Given the description of an element on the screen output the (x, y) to click on. 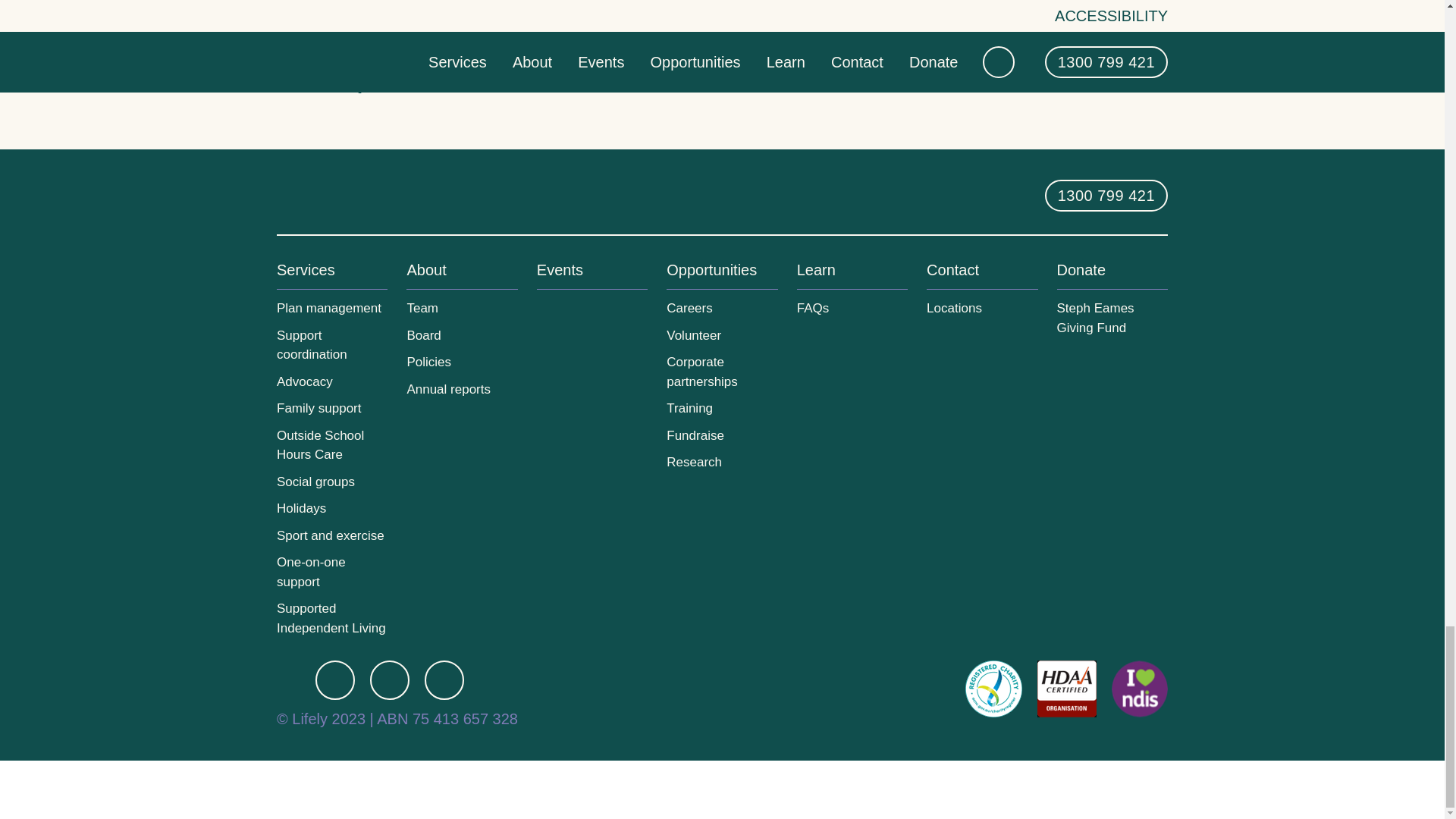
Go to home page (336, 194)
Visit Facebook in new window (335, 680)
